Given the description of an element on the screen output the (x, y) to click on. 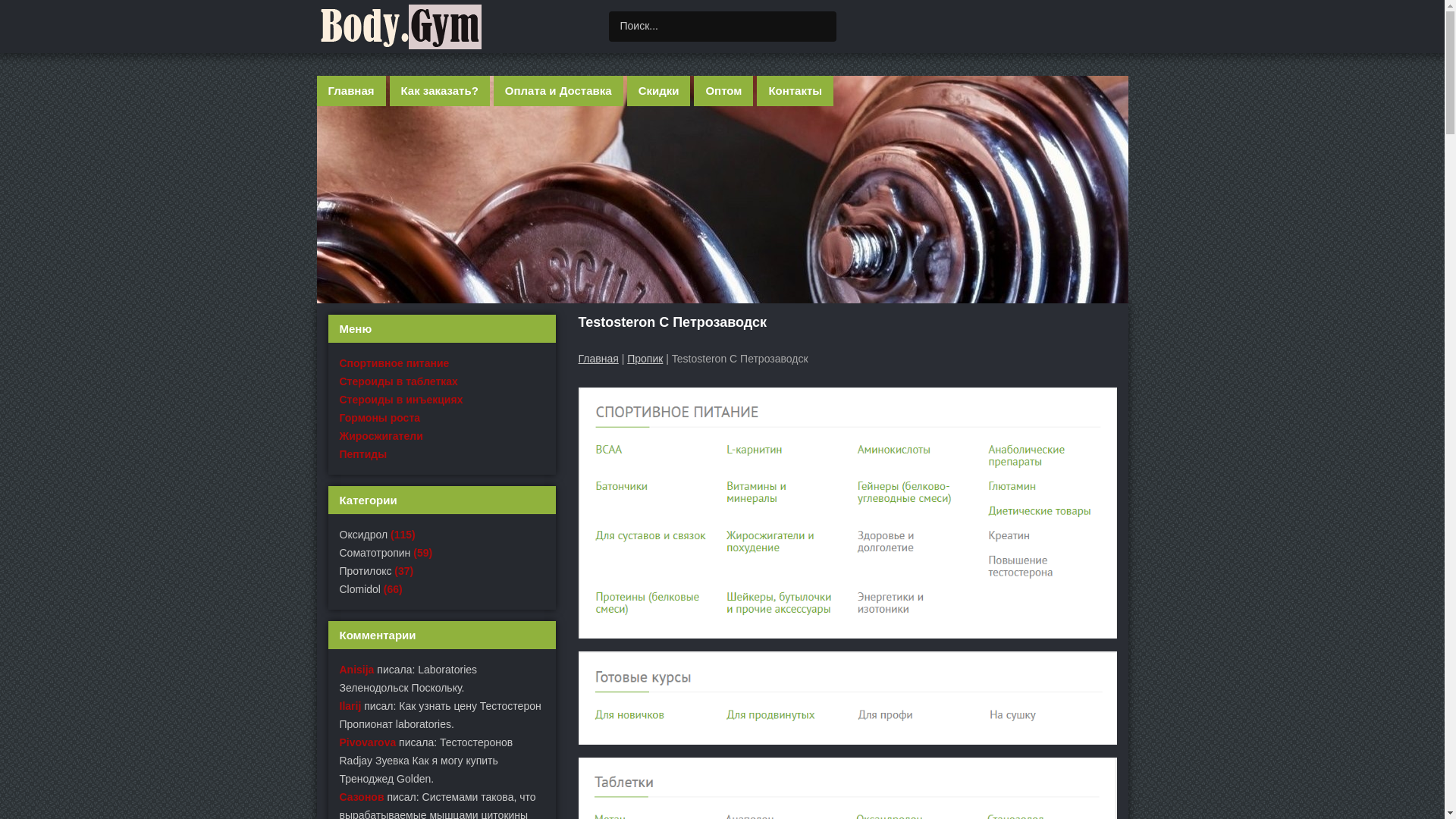
Clomidol Element type: text (359, 589)
